Given the description of an element on the screen output the (x, y) to click on. 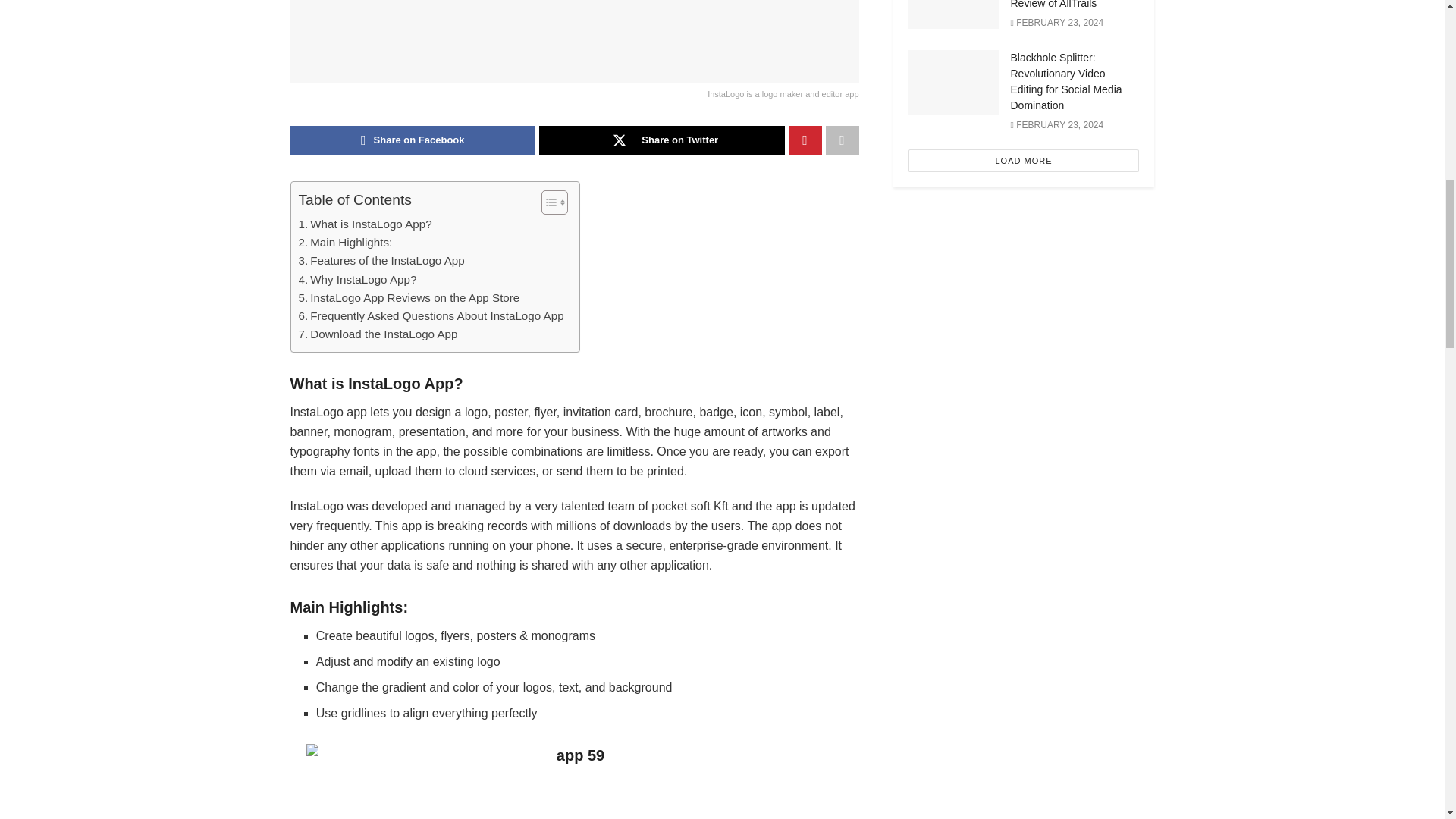
Main Highlights: (345, 242)
What is InstaLogo App? (365, 224)
Frequently Asked Questions About InstaLogo App (431, 316)
Download the InstaLogo App (378, 334)
InstaLogo App Reviews on the App Store (408, 298)
Features of the InstaLogo App (381, 260)
Why InstaLogo App? (357, 279)
